Given the description of an element on the screen output the (x, y) to click on. 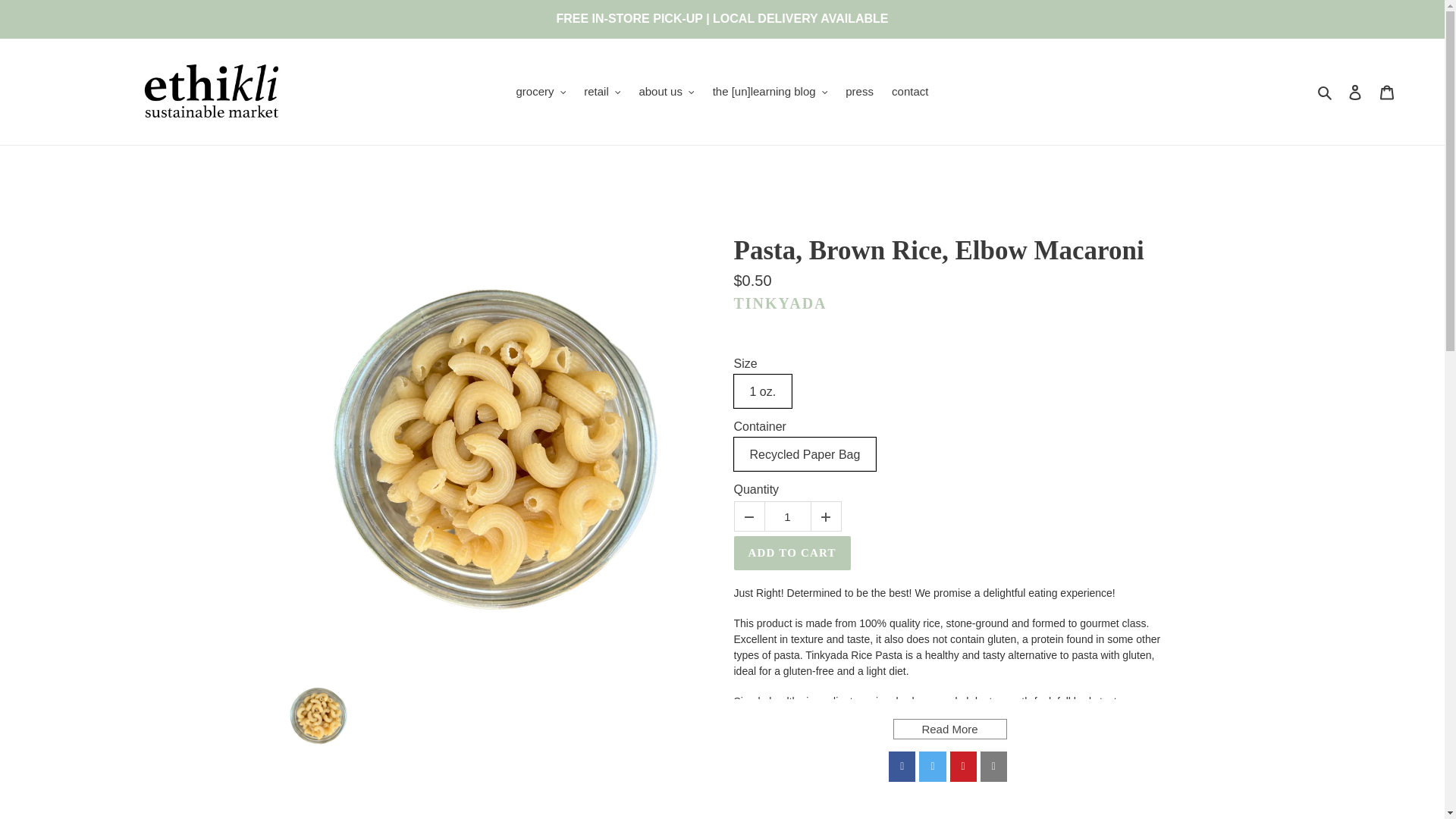
grocery (540, 92)
retail (601, 92)
1 (786, 517)
